Given the description of an element on the screen output the (x, y) to click on. 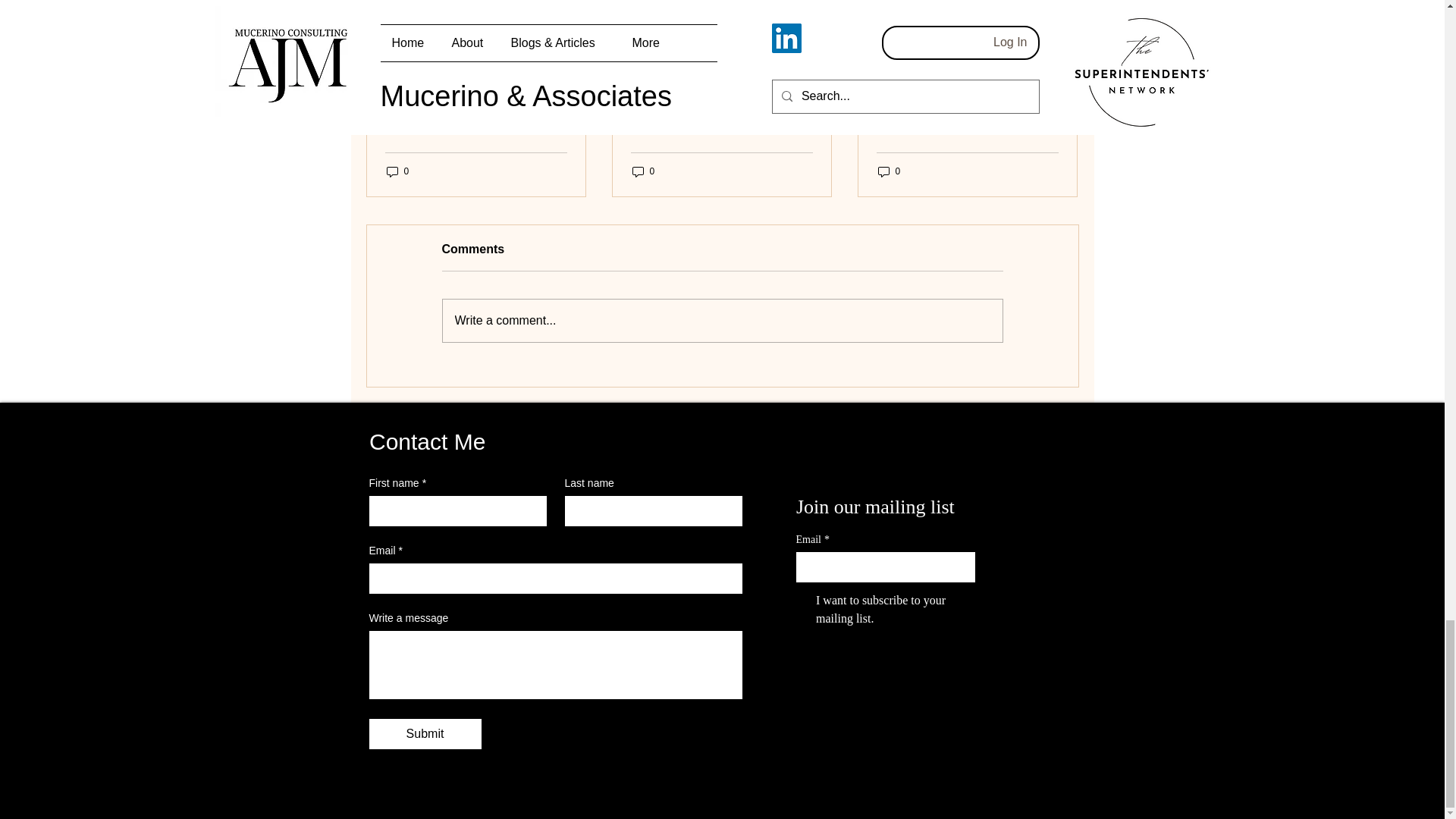
0 (643, 171)
0 (397, 171)
THE EIGHT MOST COMMON MISTAKES IN SCHOOL GOVERNANCE (476, 118)
THE TEAM WITHIN THE GOVERNANCE TEAM (721, 118)
